Given the description of an element on the screen output the (x, y) to click on. 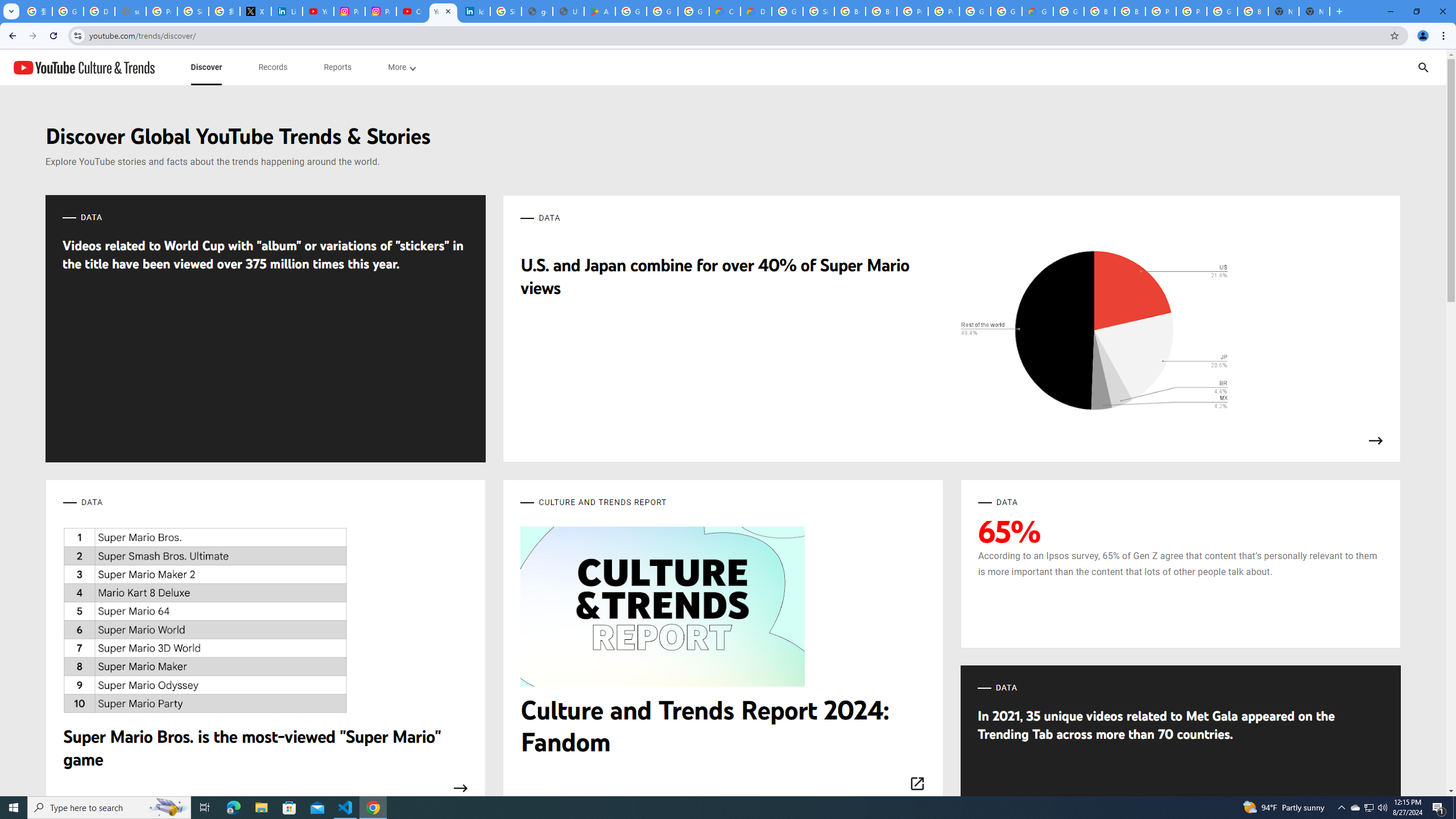
Privacy Help Center - Policies Help (161, 11)
Android Apps on Google Play (599, 11)
Google Cloud Platform (1005, 11)
Sign in - Google Accounts (192, 11)
subnav-Reports menupopup (337, 67)
Google Cloud Estimate Summary (1037, 11)
